Given the description of an element on the screen output the (x, y) to click on. 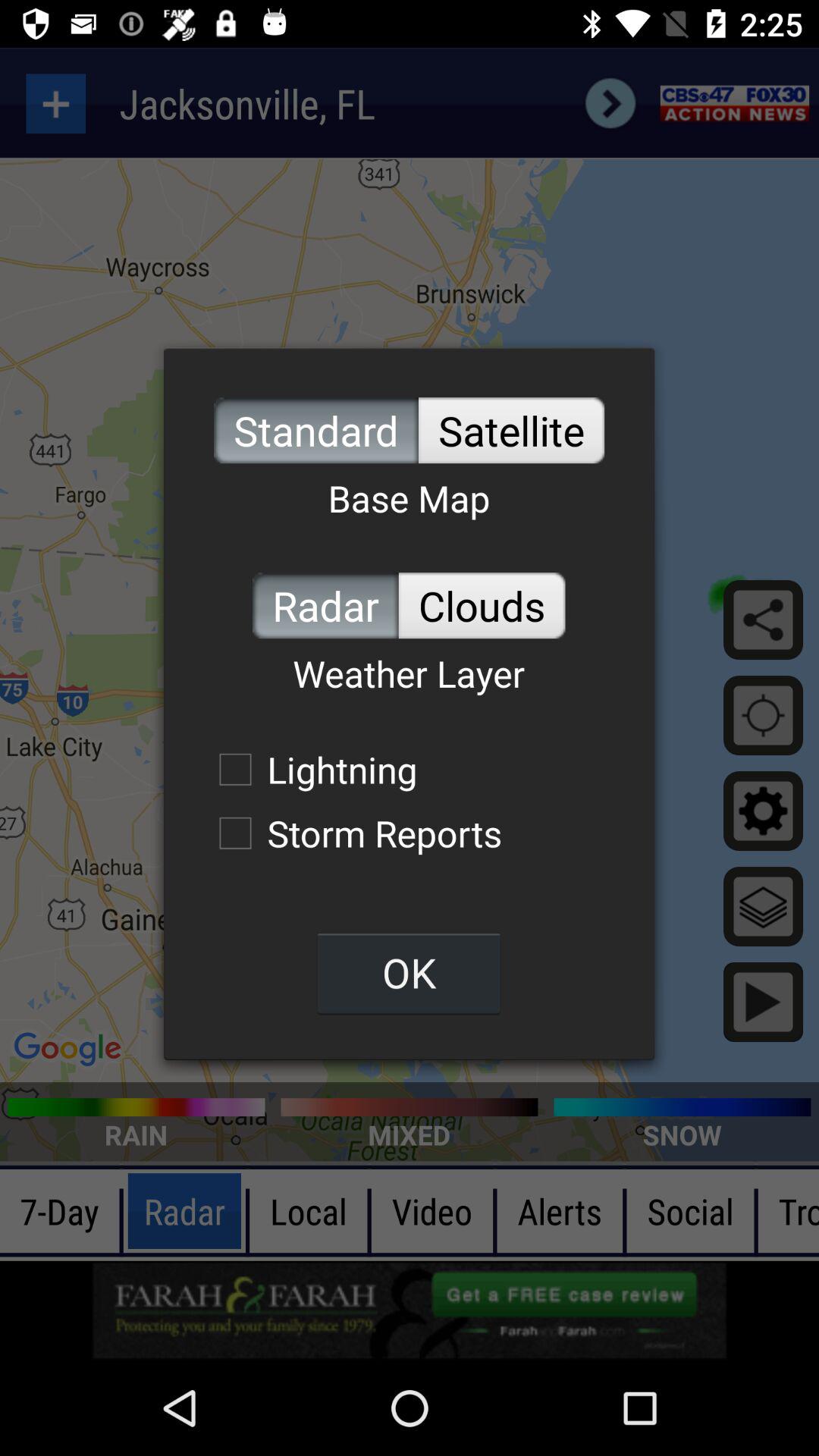
tap the item next to clouds icon (325, 605)
